Given the description of an element on the screen output the (x, y) to click on. 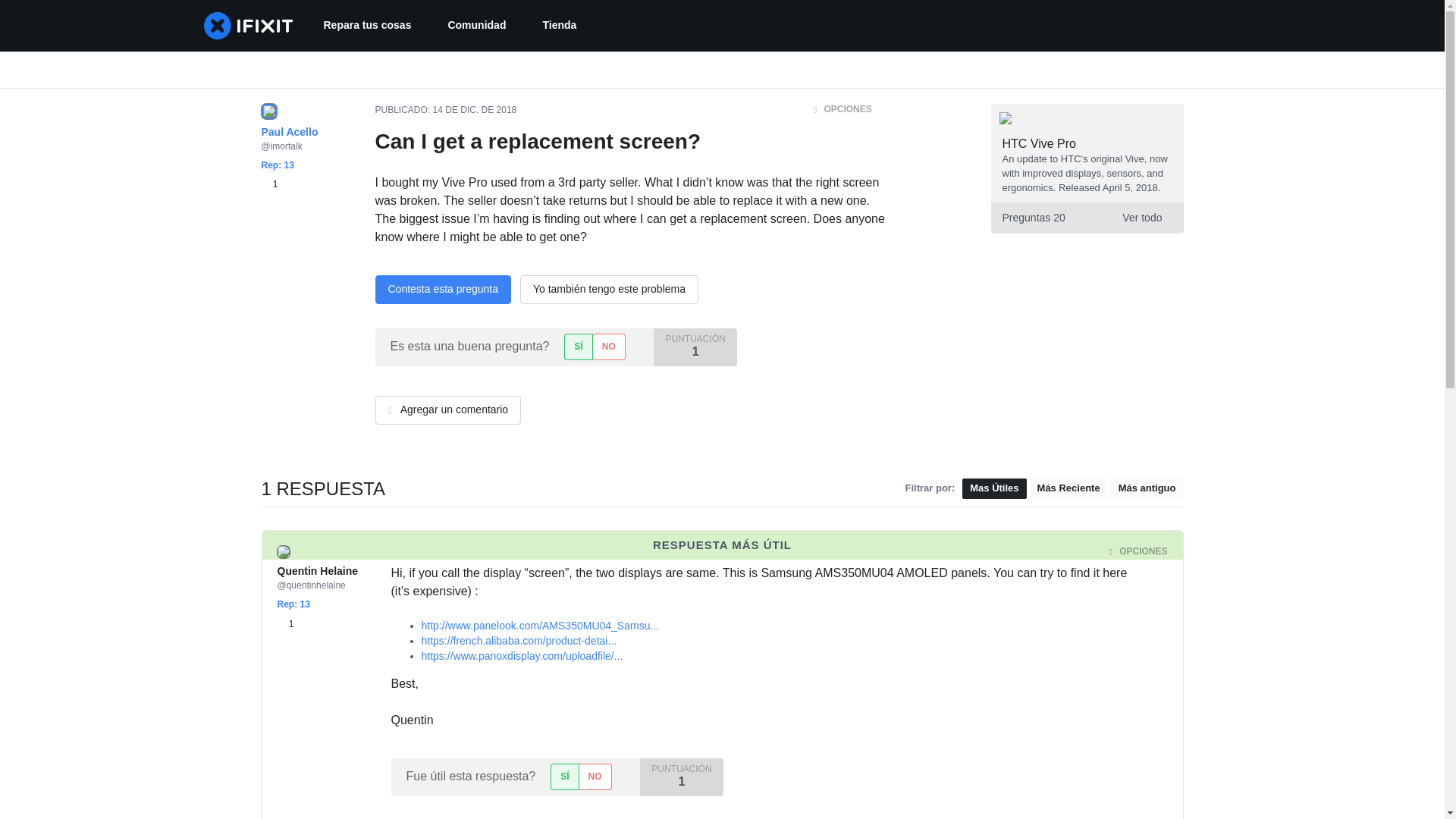
NO (1086, 217)
Comunidad (594, 776)
Tienda (476, 25)
PUBLICADO: 14 DE DIC. DE 2018 (559, 25)
HTC Vive Pro (445, 109)
1 insignias de Bronce (1040, 143)
NO (286, 623)
Fri, 14 Dec 2018 19:54:48 -0700 (609, 346)
PUBLICADO: 22 DE SEP. DE 2019 (474, 109)
